Given the description of an element on the screen output the (x, y) to click on. 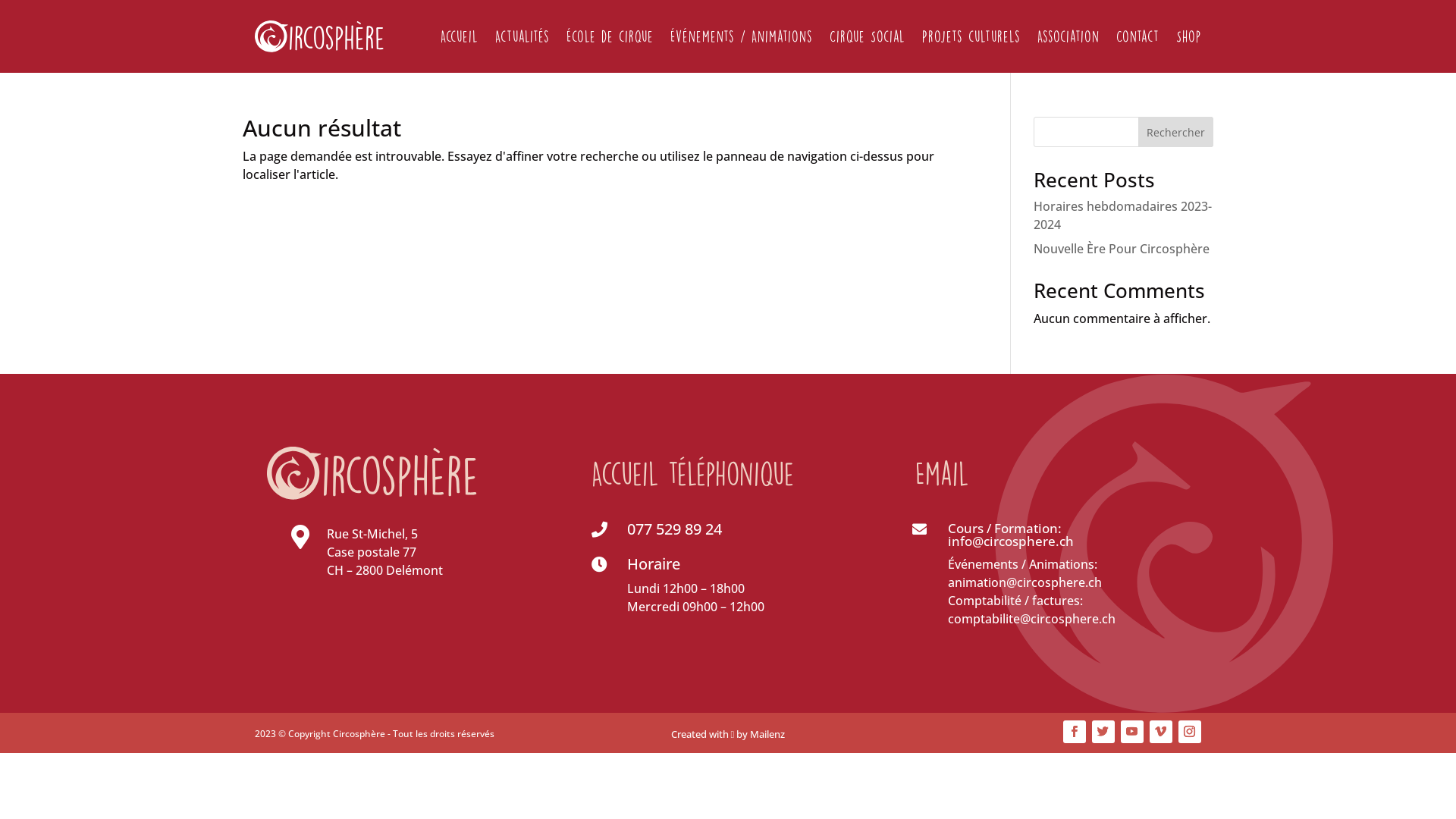
Suivez sur Instagram Element type: hover (1189, 731)
Shop Element type: text (1188, 36)
Accueil Element type: text (459, 36)
Horaire Element type: text (653, 563)
Mailenz Element type: text (766, 733)
Suivez sur Twitter Element type: hover (1103, 731)
Cirque Social Element type: text (867, 36)
animation@circosphere.ch Element type: text (1024, 582)
Association Element type: text (1068, 36)
Suivez sur Vimeo Element type: hover (1160, 731)
logo crele Element type: hover (371, 472)
comptabilite@circosphere.ch Element type: text (1031, 618)
Horaires hebdomadaires 2023-2024 Element type: text (1122, 214)
Contact Element type: text (1137, 36)
077 529 89 24 Element type: text (674, 528)
Suivez sur Facebook Element type: hover (1074, 731)
Suivez sur Youtube Element type: hover (1131, 731)
Projets culturels Element type: text (971, 36)
Rechercher Element type: text (1175, 131)
